Given the description of an element on the screen output the (x, y) to click on. 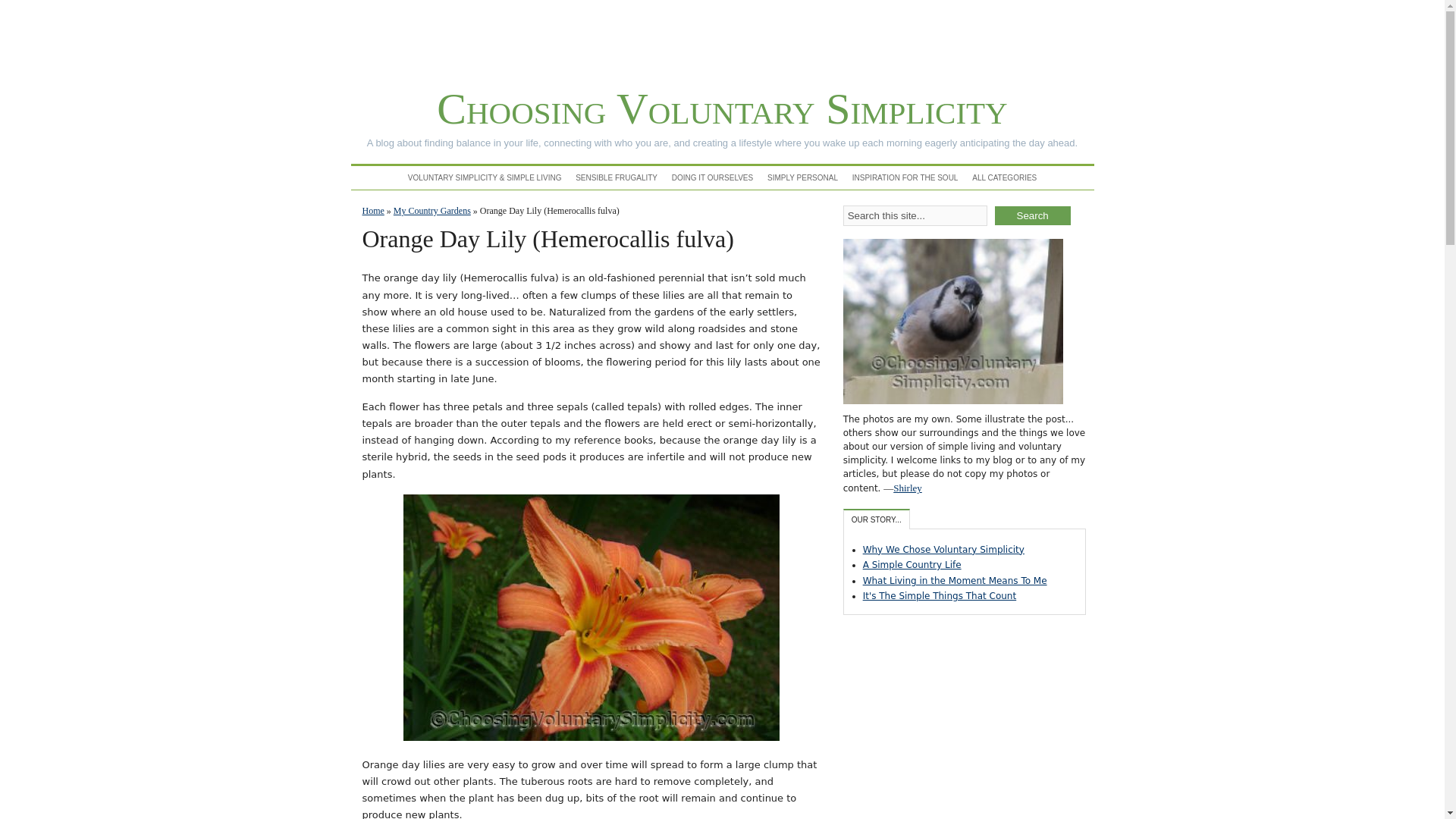
ALL CATEGORIES (1004, 177)
A Simple Country Life (911, 564)
Search (1032, 215)
INSPIRATION FOR THE SOUL (904, 177)
Search this site... (915, 215)
Advertisement (956, 722)
Home (373, 210)
Why We Chose Voluntary Simplicity (944, 549)
DOING IT OURSELVES (711, 177)
Shirley (907, 487)
